Given the description of an element on the screen output the (x, y) to click on. 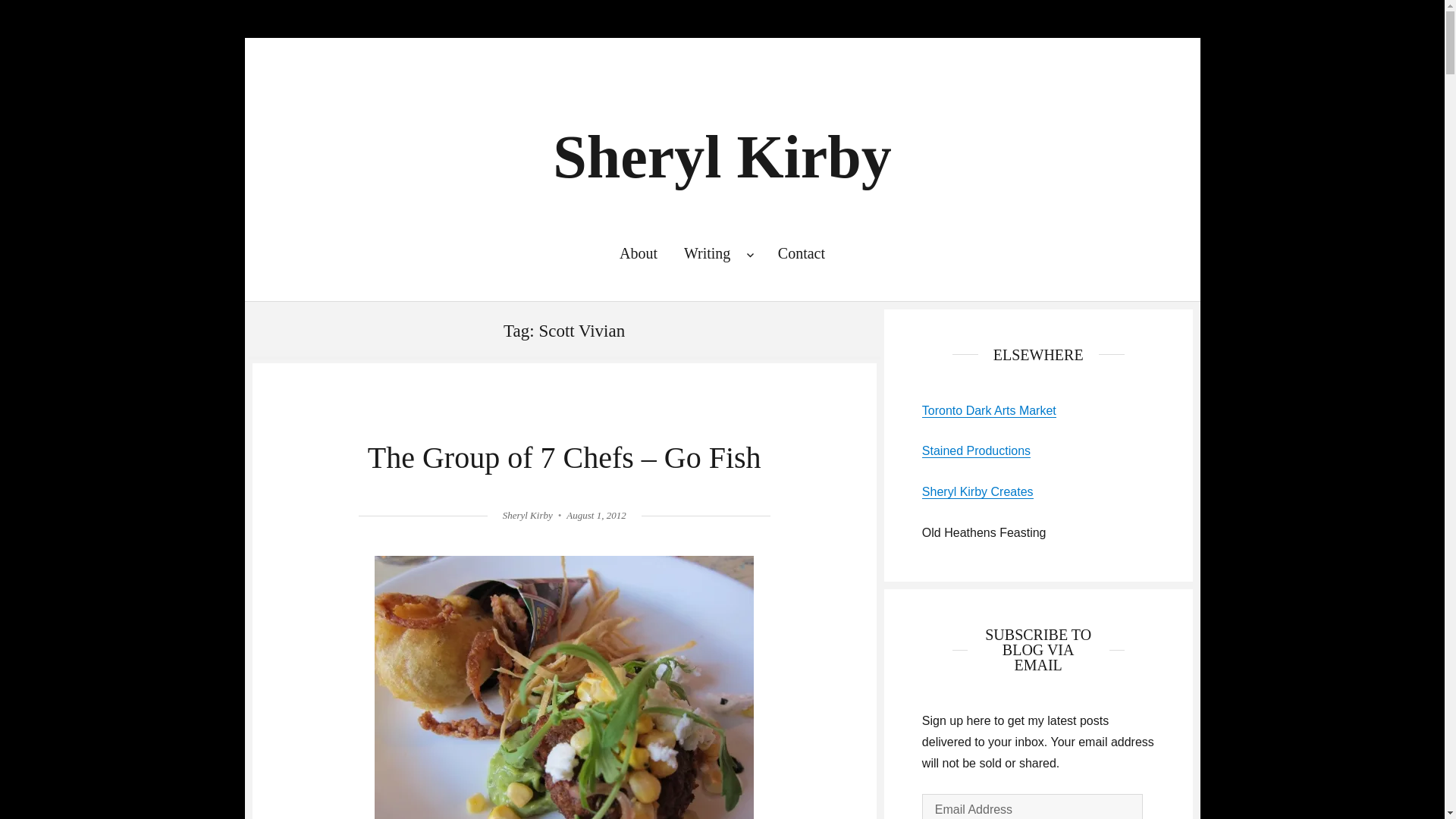
August 1, 2012 (596, 514)
Writing (716, 253)
About (637, 253)
Sheryl Kirby (527, 514)
Contact (801, 253)
Sheryl Kirby (722, 156)
